Given the description of an element on the screen output the (x, y) to click on. 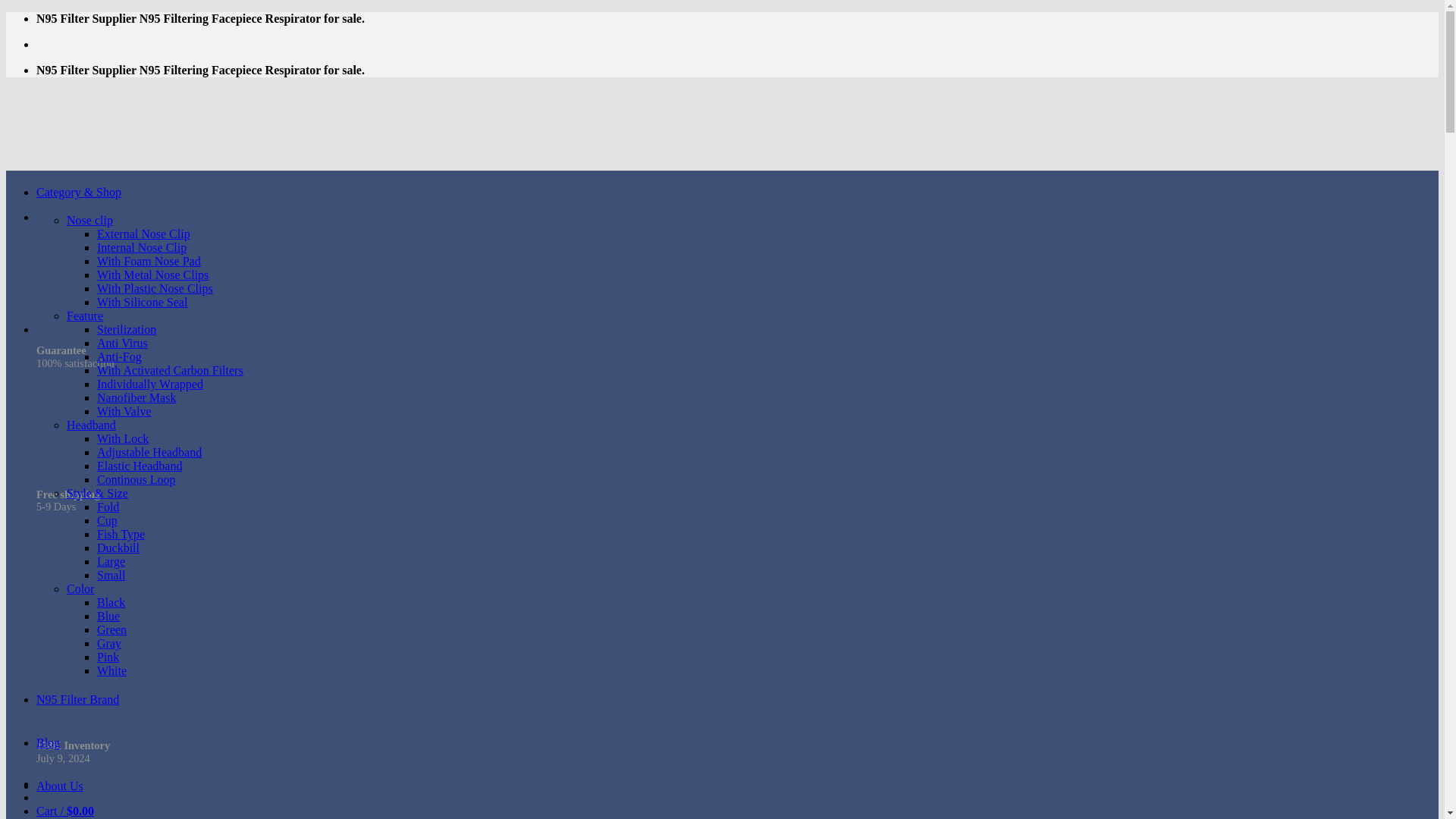
Feature (84, 315)
Color (80, 588)
Small (111, 574)
Internal Nose Clip (141, 246)
Continous Loop (136, 479)
Sterilization (126, 328)
With Silicone Seal (142, 301)
With Foam Nose Pad (148, 260)
Cup (107, 520)
Anti-Fog (119, 356)
